Given the description of an element on the screen output the (x, y) to click on. 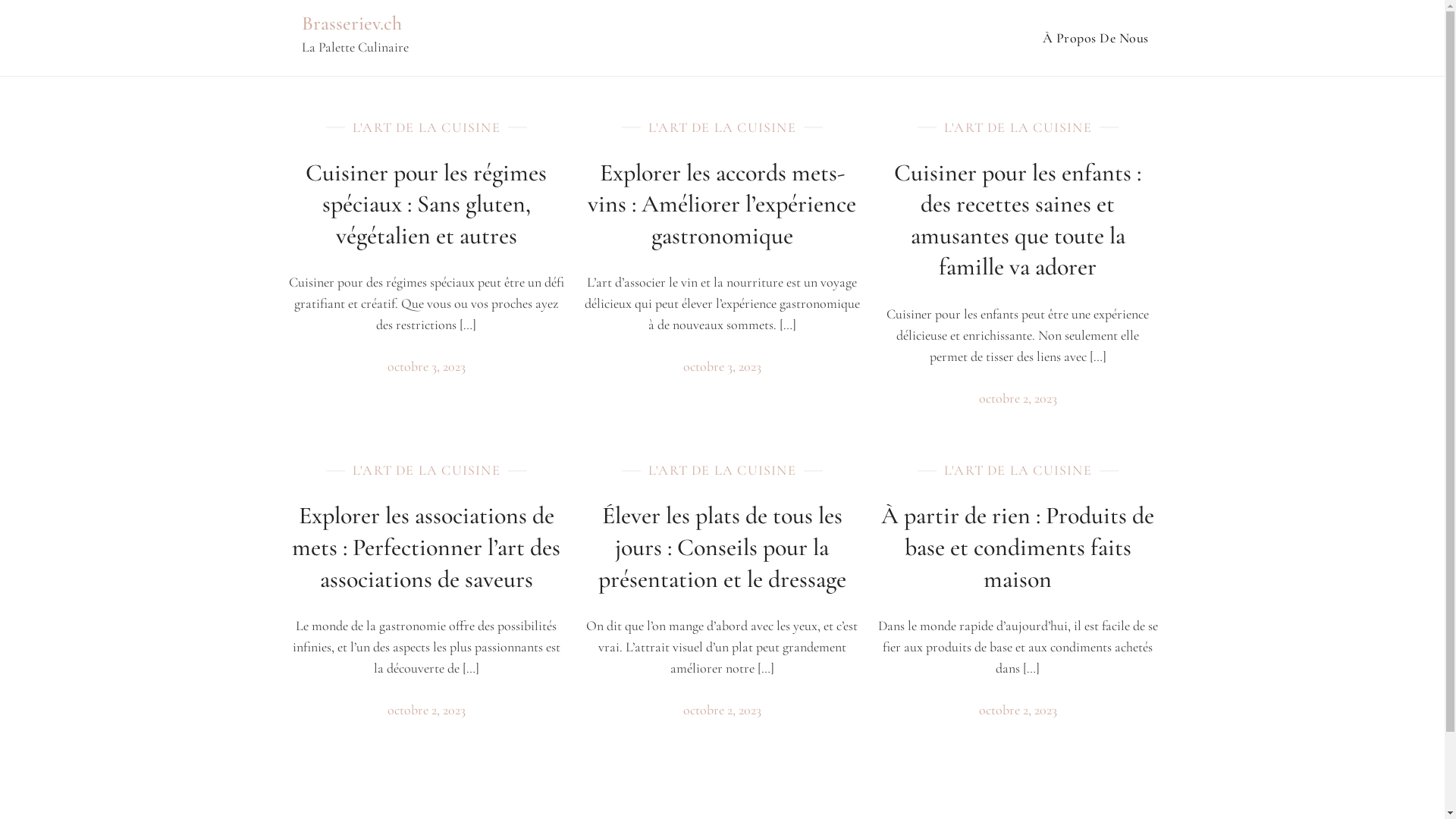
octobre 2, 2023 Element type: text (1018, 709)
octobre 2, 2023 Element type: text (722, 709)
octobre 2, 2023 Element type: text (426, 709)
L'ART DE LA CUISINE Element type: text (1018, 127)
octobre 3, 2023 Element type: text (722, 365)
L'ART DE LA CUISINE Element type: text (426, 127)
octobre 2, 2023 Element type: text (1018, 397)
octobre 3, 2023 Element type: text (426, 365)
Brasseriev.ch Element type: text (351, 22)
L'ART DE LA CUISINE Element type: text (426, 469)
L'ART DE LA CUISINE Element type: text (722, 469)
L'ART DE LA CUISINE Element type: text (722, 127)
L'ART DE LA CUISINE Element type: text (1018, 469)
